Given the description of an element on the screen output the (x, y) to click on. 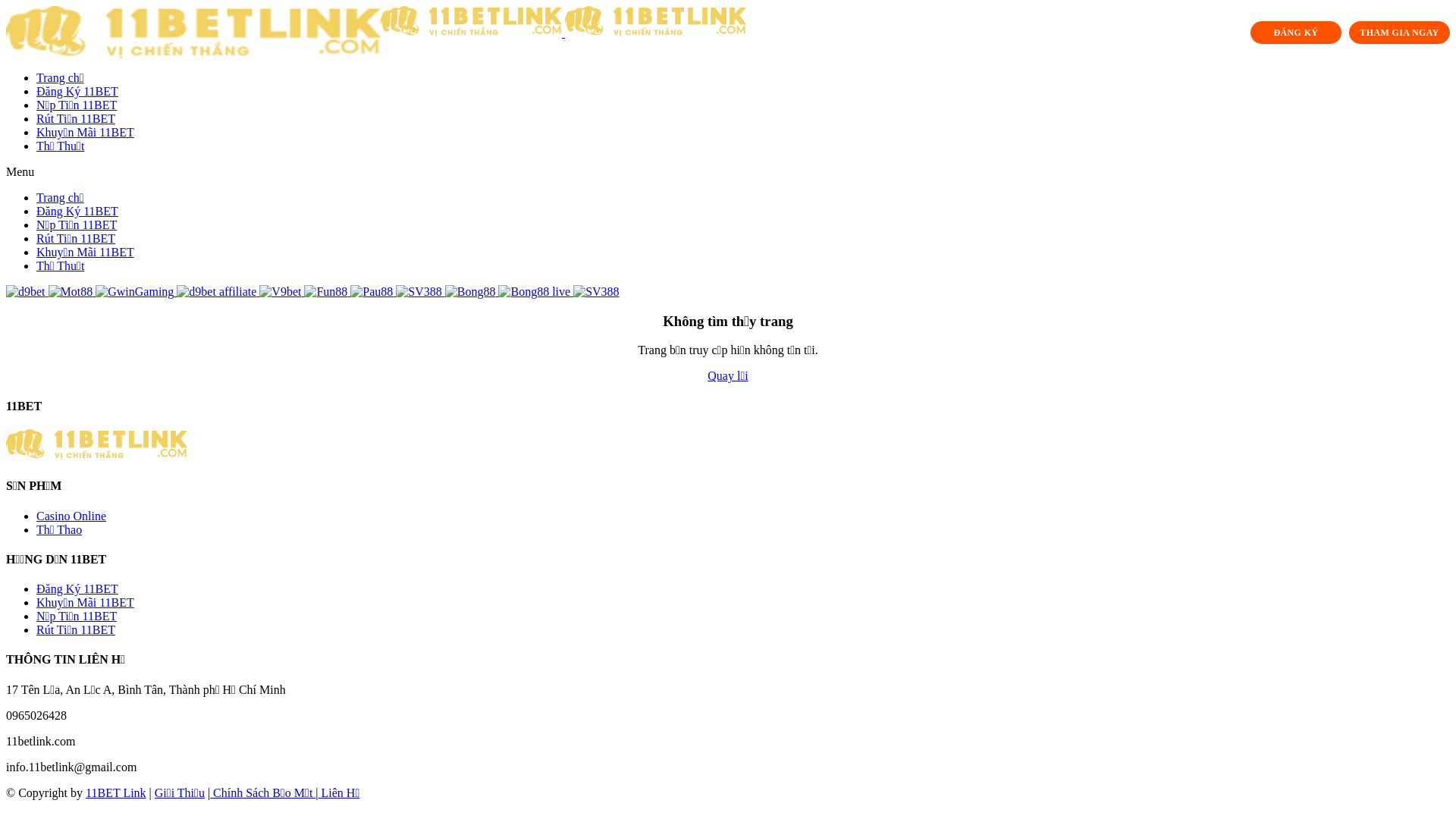
V9bet Element type: hover (281, 291)
SV388 Element type: hover (419, 291)
Fun88 Element type: hover (327, 291)
Mot88 Element type: hover (72, 291)
Bong88 live Element type: hover (535, 291)
THAM GIA NGAY Element type: text (1399, 32)
SV388 Element type: hover (595, 291)
d9bet Element type: hover (27, 291)
Pau88 Element type: hover (372, 291)
Casino Online Element type: text (71, 515)
11BET Link Element type: text (115, 792)
Bong88 Element type: hover (471, 291)
GwinGaming Element type: hover (135, 291)
d9bet affiliate Element type: hover (217, 291)
